Given the description of an element on the screen output the (x, y) to click on. 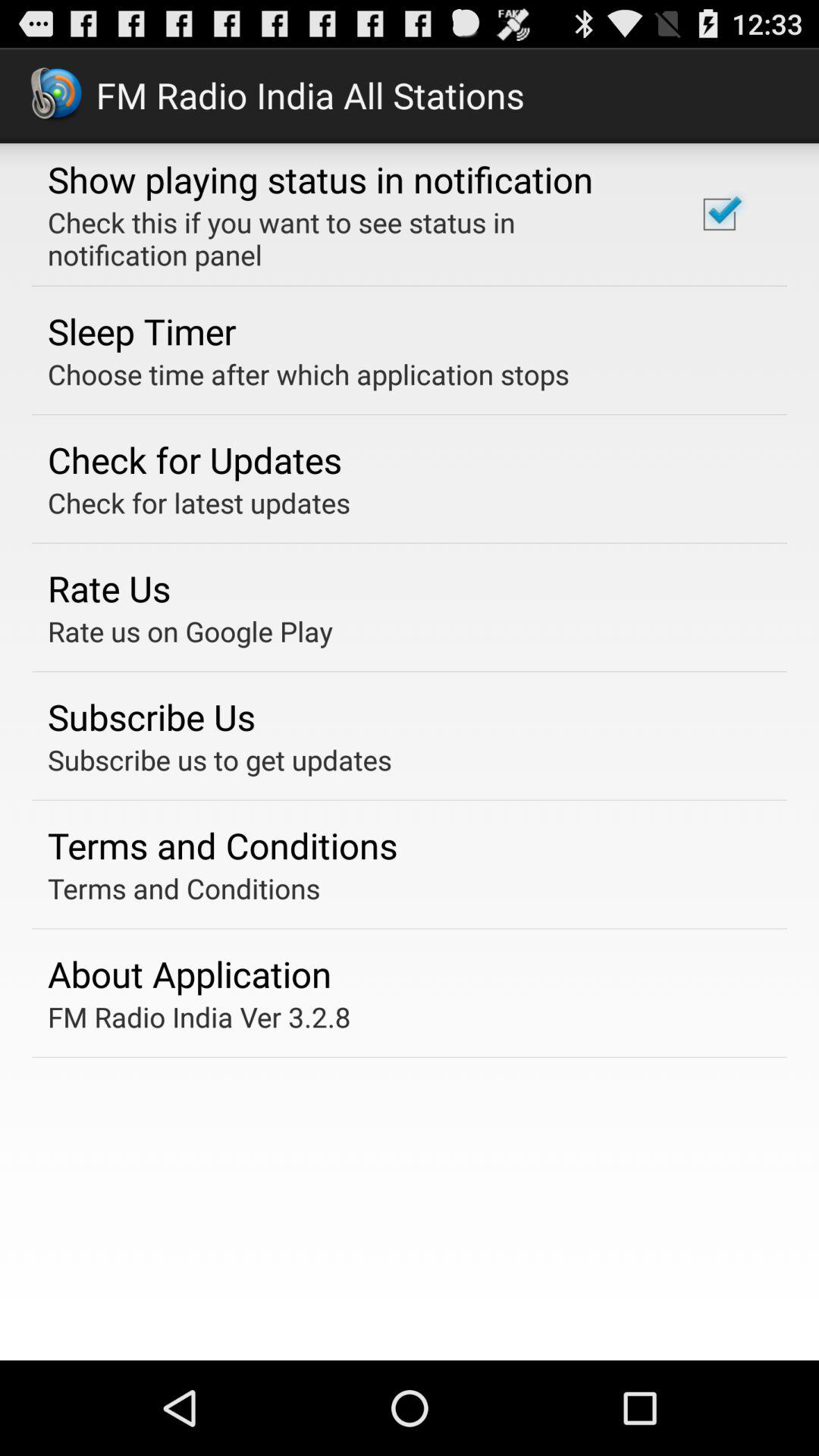
launch icon above the check for updates (308, 374)
